Given the description of an element on the screen output the (x, y) to click on. 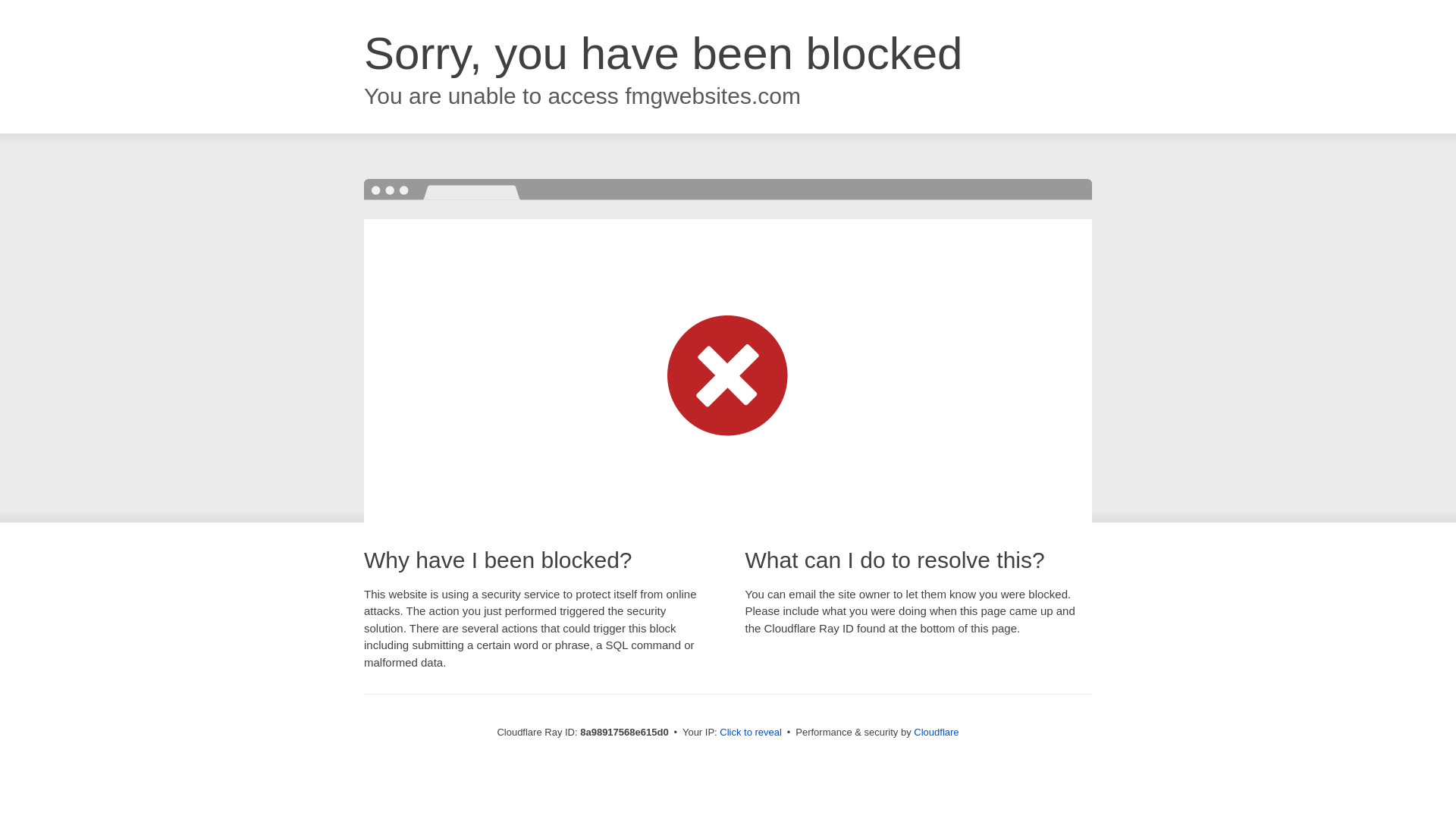
Click to reveal (750, 732)
Cloudflare (936, 731)
